Given the description of an element on the screen output the (x, y) to click on. 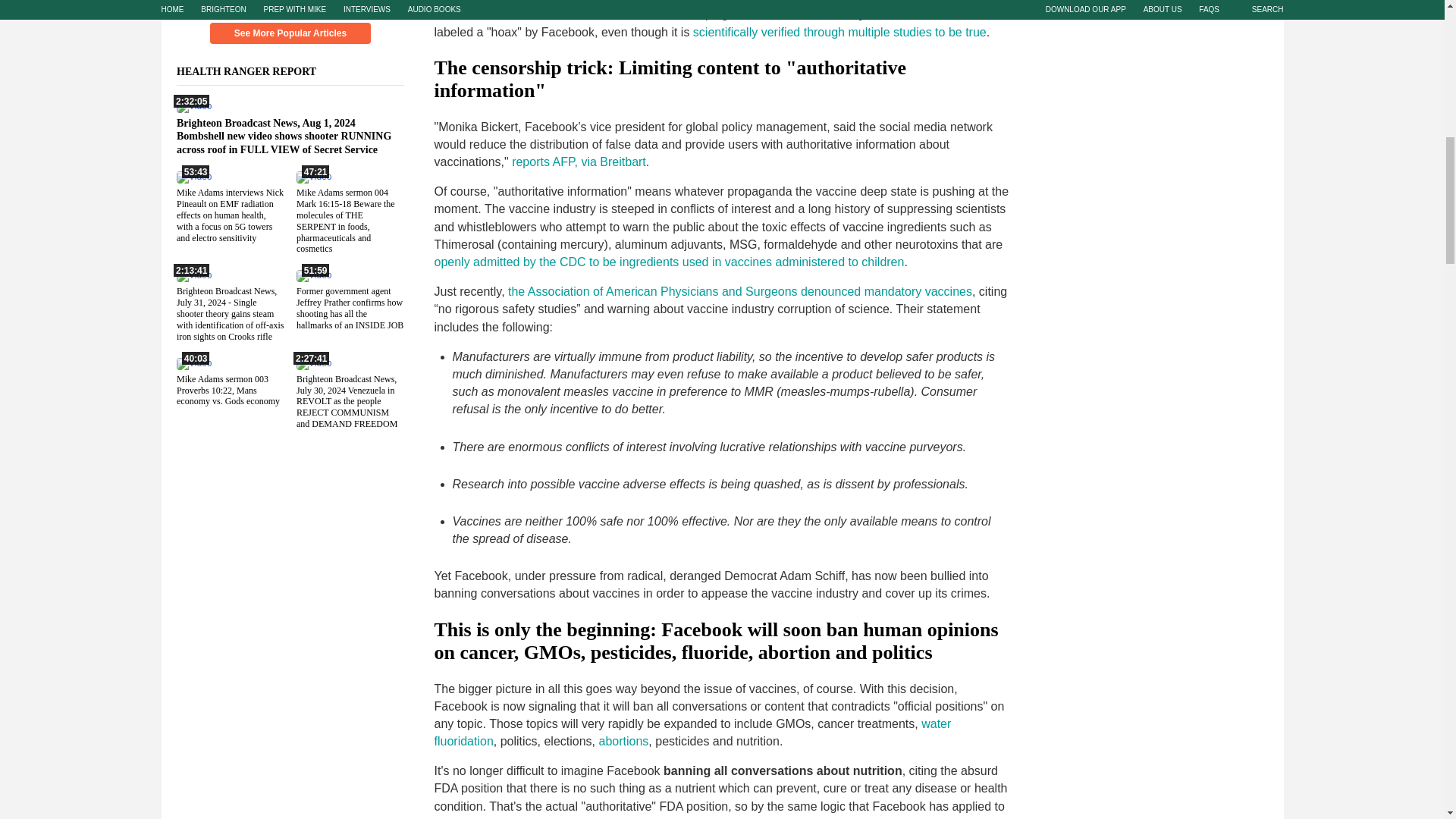
Scroll Down (290, 6)
47:21 (312, 176)
2:13:41 (193, 275)
2:32:05 (193, 105)
51:59 (312, 275)
HEALTH RANGER REPORT (254, 71)
40:03 (193, 362)
See More Popular Articles (289, 33)
2:27:41 (312, 362)
